Given the description of an element on the screen output the (x, y) to click on. 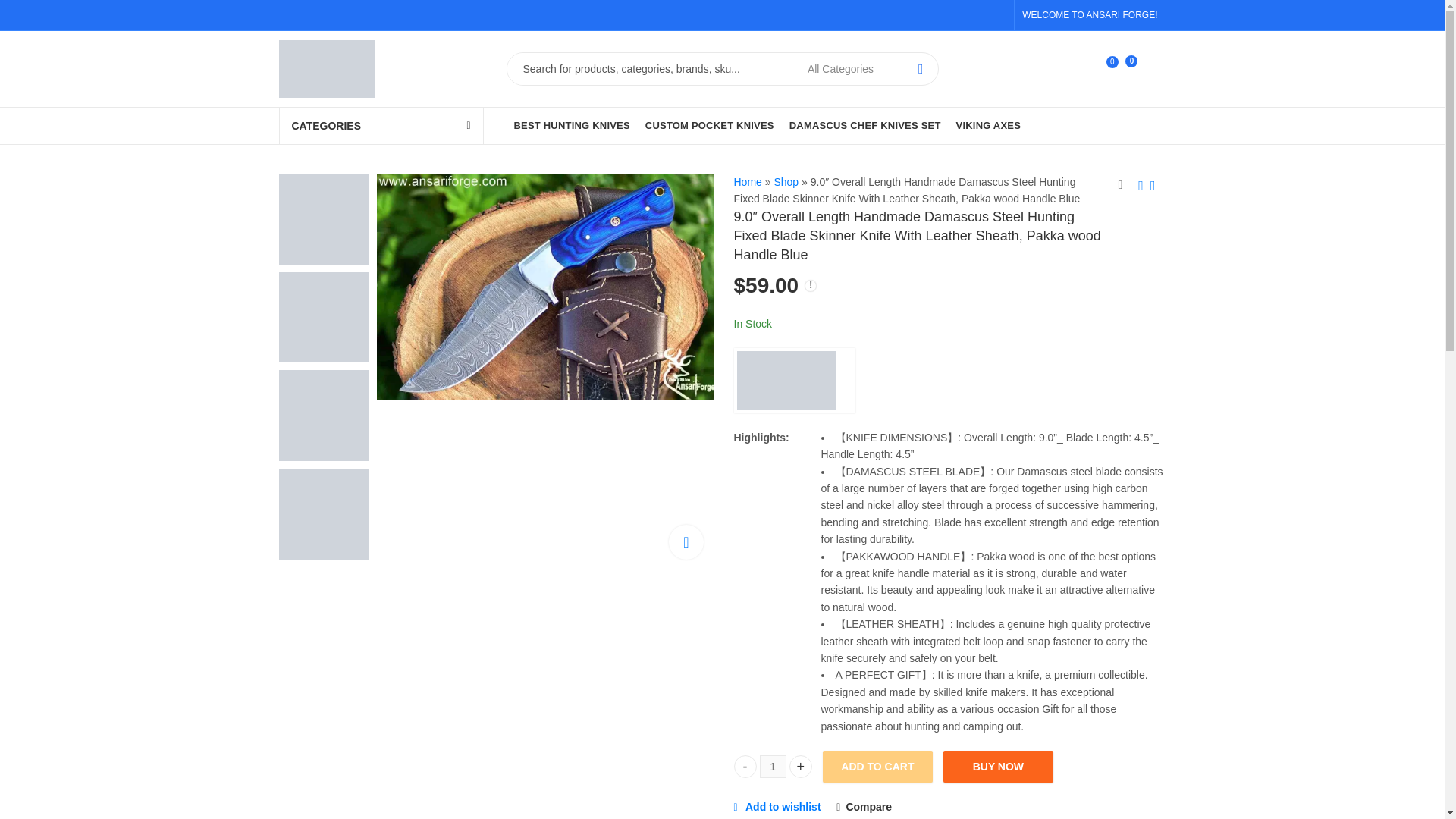
- (745, 766)
1 (773, 766)
VIKING AXES (989, 125)
Qty (773, 766)
doslp6c (545, 286)
DAMASCUS CHEF KNIVES SET (1064, 69)
Ansari Forge (865, 125)
BEST HUNTING KNIVES (794, 380)
CUSTOM POCKET KNIVES (571, 125)
